Given the description of an element on the screen output the (x, y) to click on. 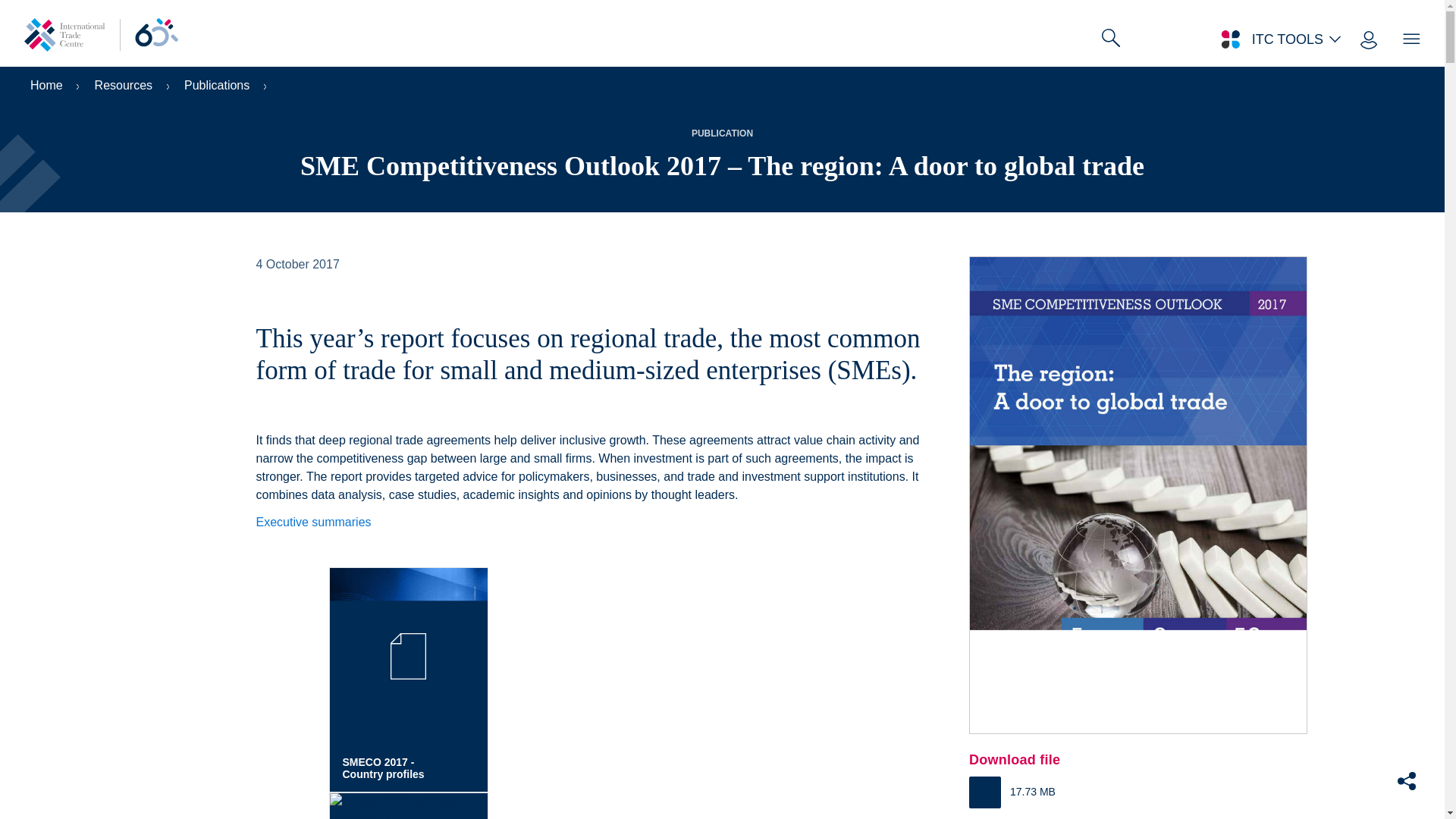
ACCEPT (1168, 813)
REJECT (1057, 813)
Privacy settings (49, 806)
Login (1379, 27)
